Given the description of an element on the screen output the (x, y) to click on. 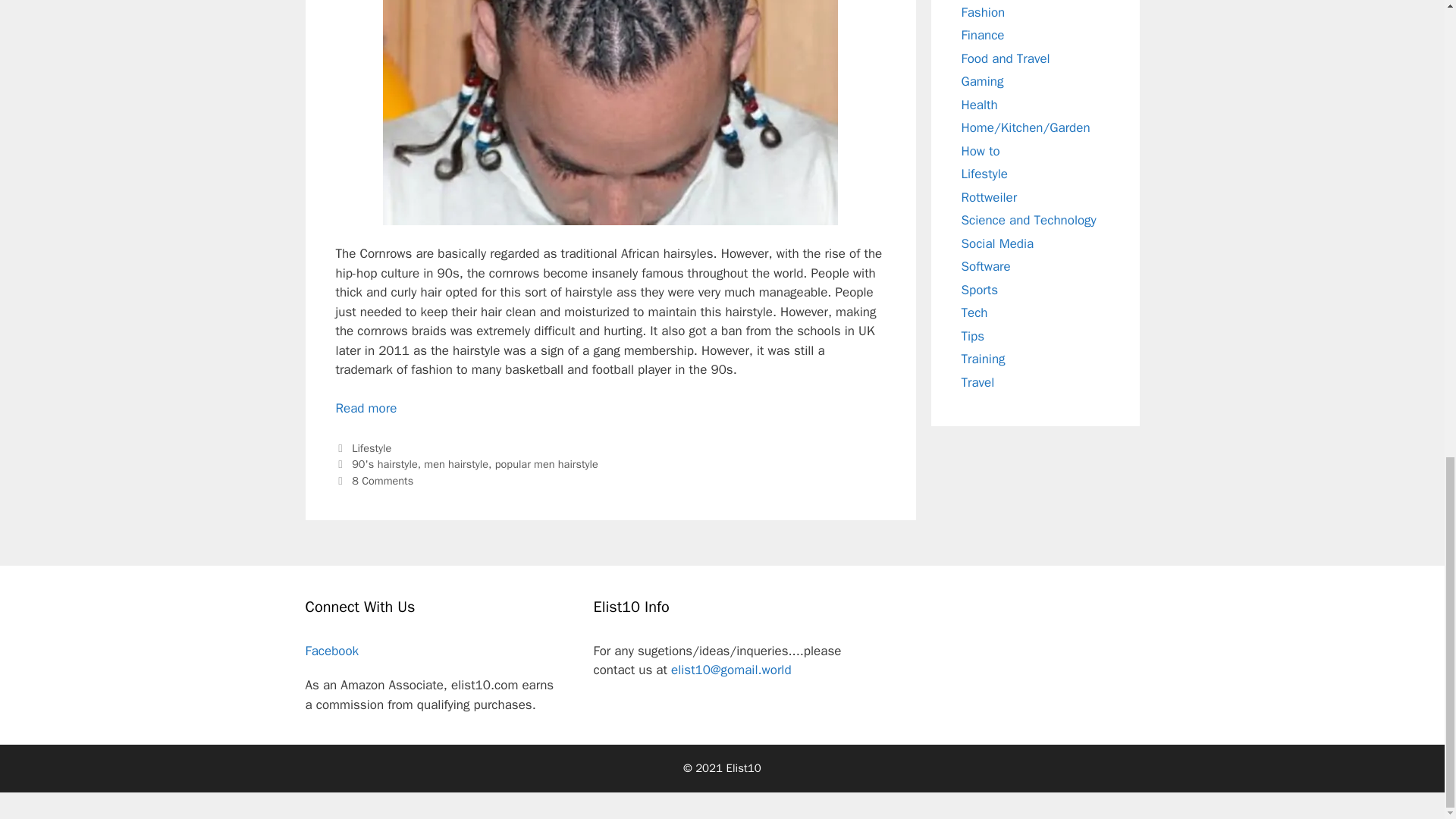
Gaming (982, 81)
Health (978, 104)
Read more (365, 408)
men hairstyle (455, 463)
Finance (982, 35)
Lifestyle (371, 448)
8 Comments (382, 480)
Cornrows hairstyle (610, 112)
Food and Travel (1004, 58)
Fashion (983, 11)
